Given the description of an element on the screen output the (x, y) to click on. 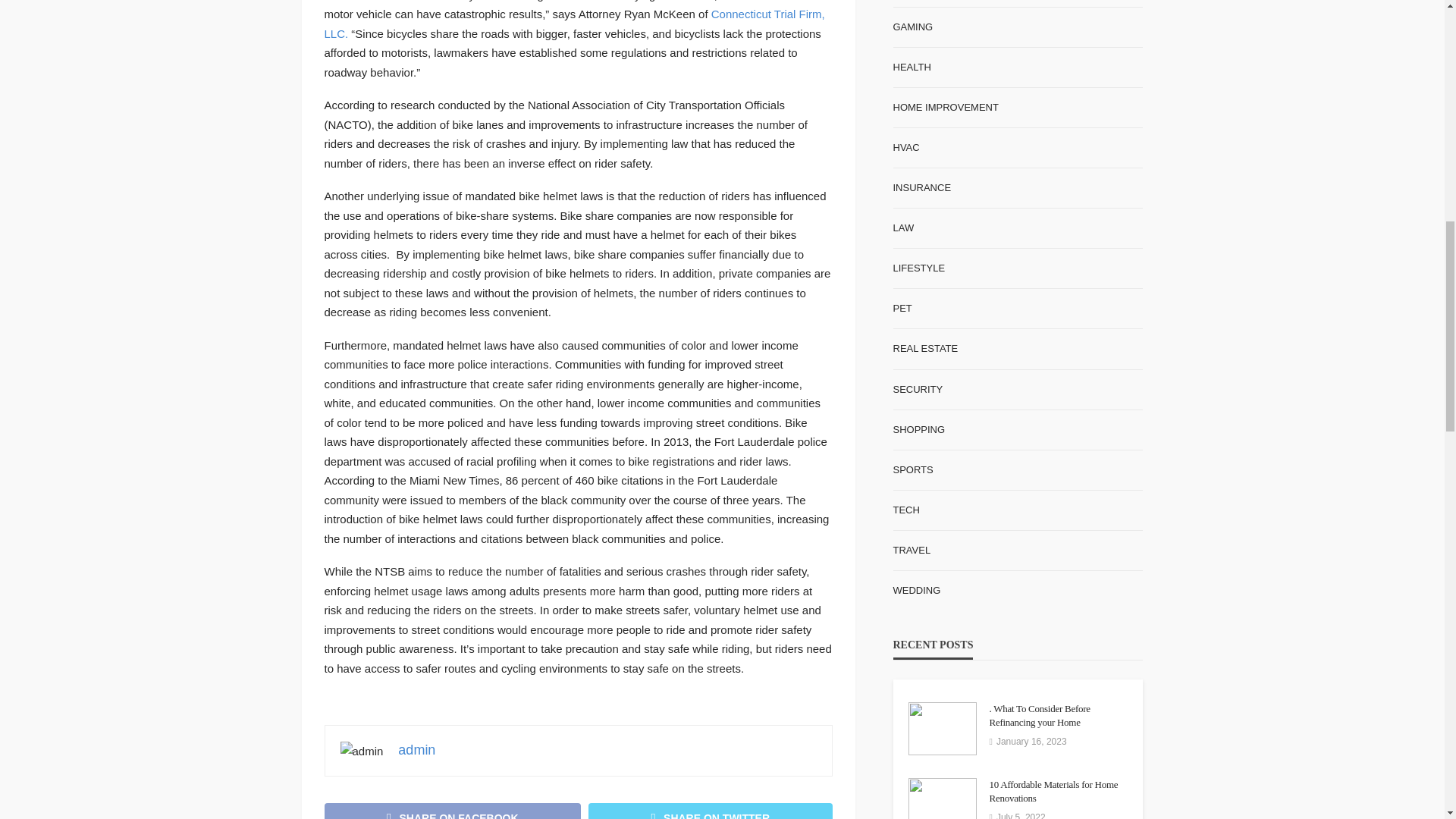
Connecticut Trial Firm, LLC. (574, 23)
admin (416, 749)
SHARE ON FACEBOOK (452, 811)
SHARE ON TWITTER (709, 811)
